Given the description of an element on the screen output the (x, y) to click on. 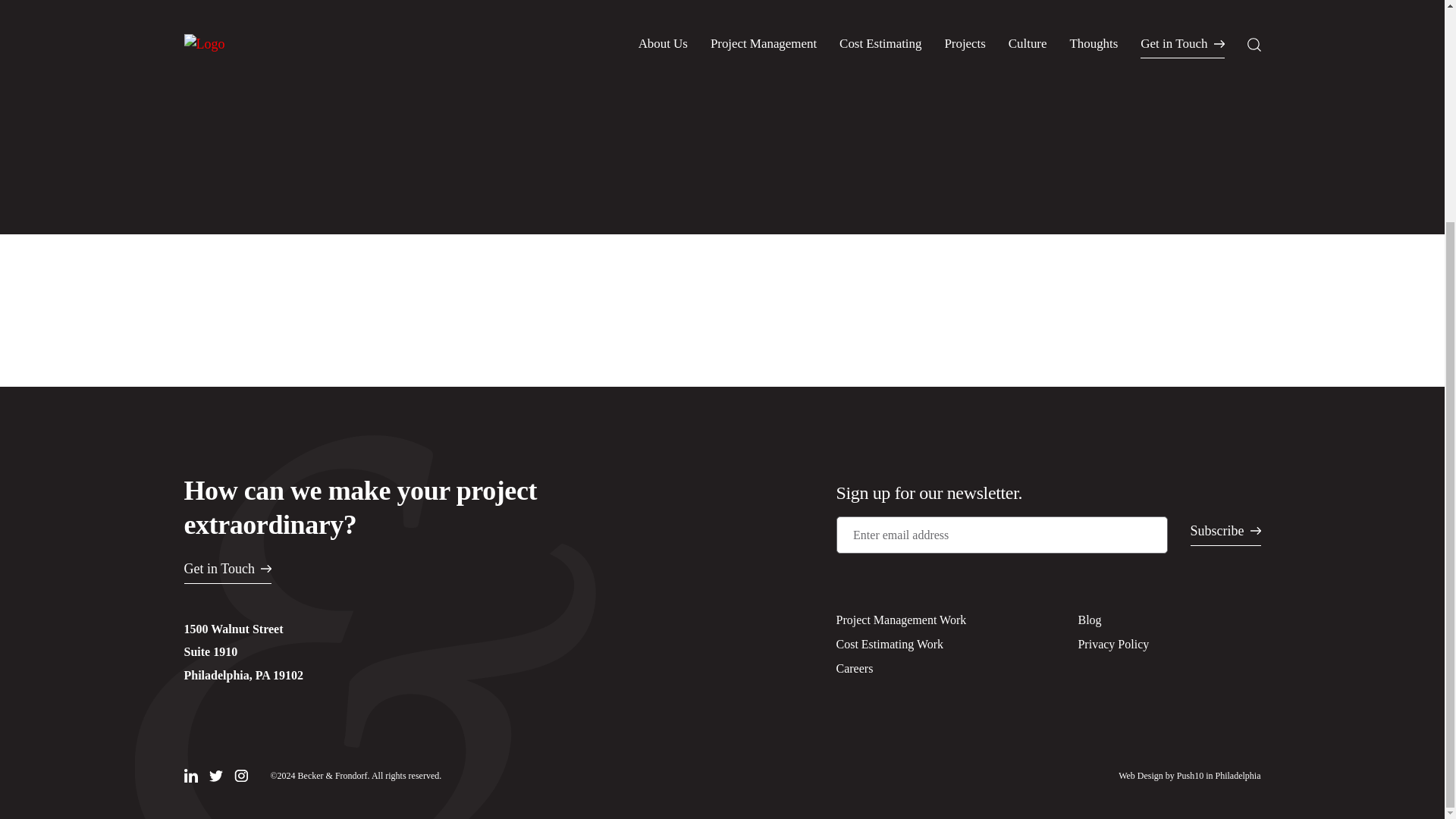
Subscribe (1225, 535)
Project Management Work (900, 619)
Blog (1088, 619)
Web Design by Push10 in Philadelphia (1189, 775)
Get in Touch (226, 572)
Cost Estimating Work (889, 644)
Instagram (239, 775)
Careers (853, 667)
Twitter (215, 776)
Privacy Policy (1112, 644)
